Given the description of an element on the screen output the (x, y) to click on. 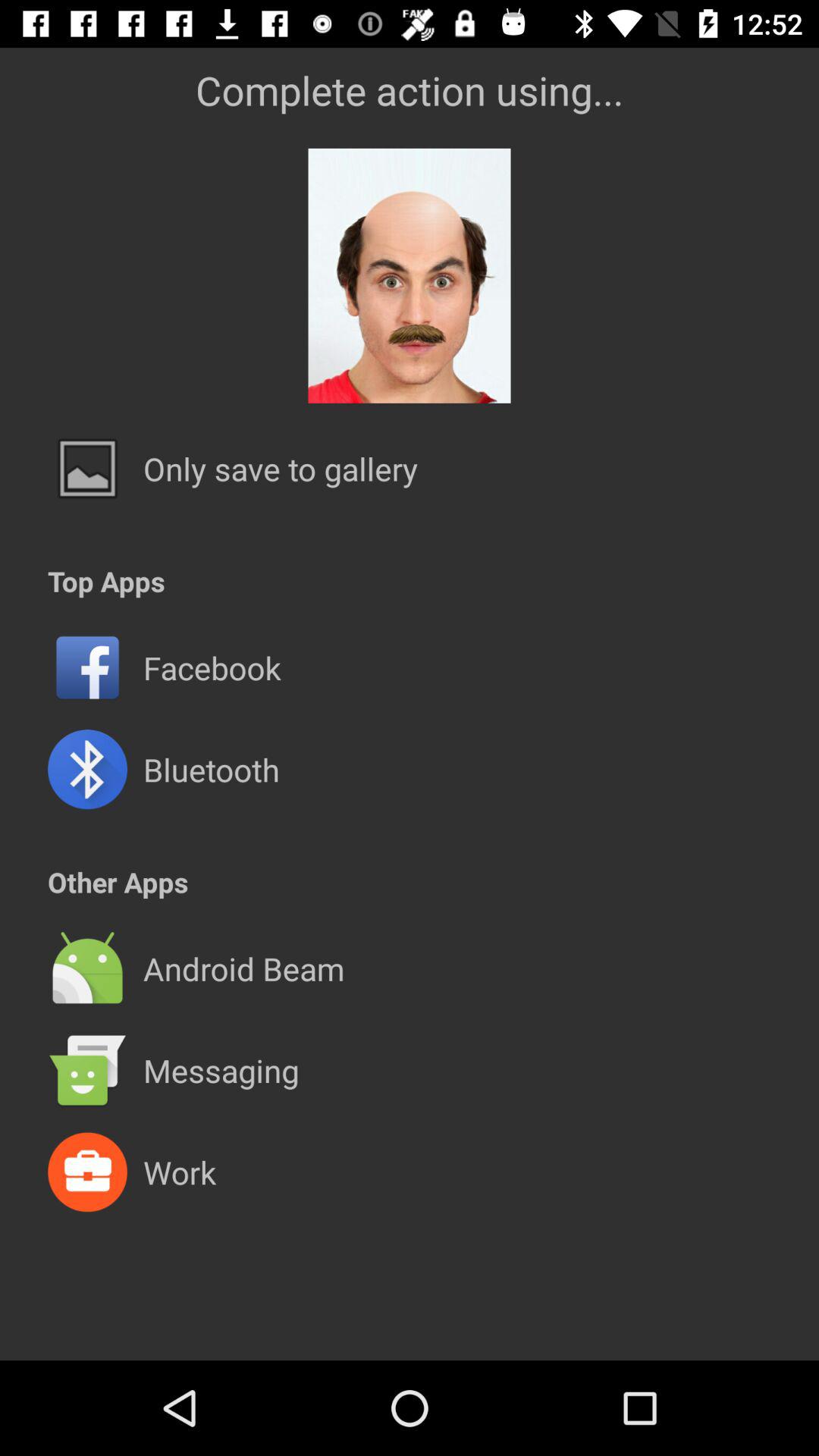
turn off the other apps icon (117, 881)
